Given the description of an element on the screen output the (x, y) to click on. 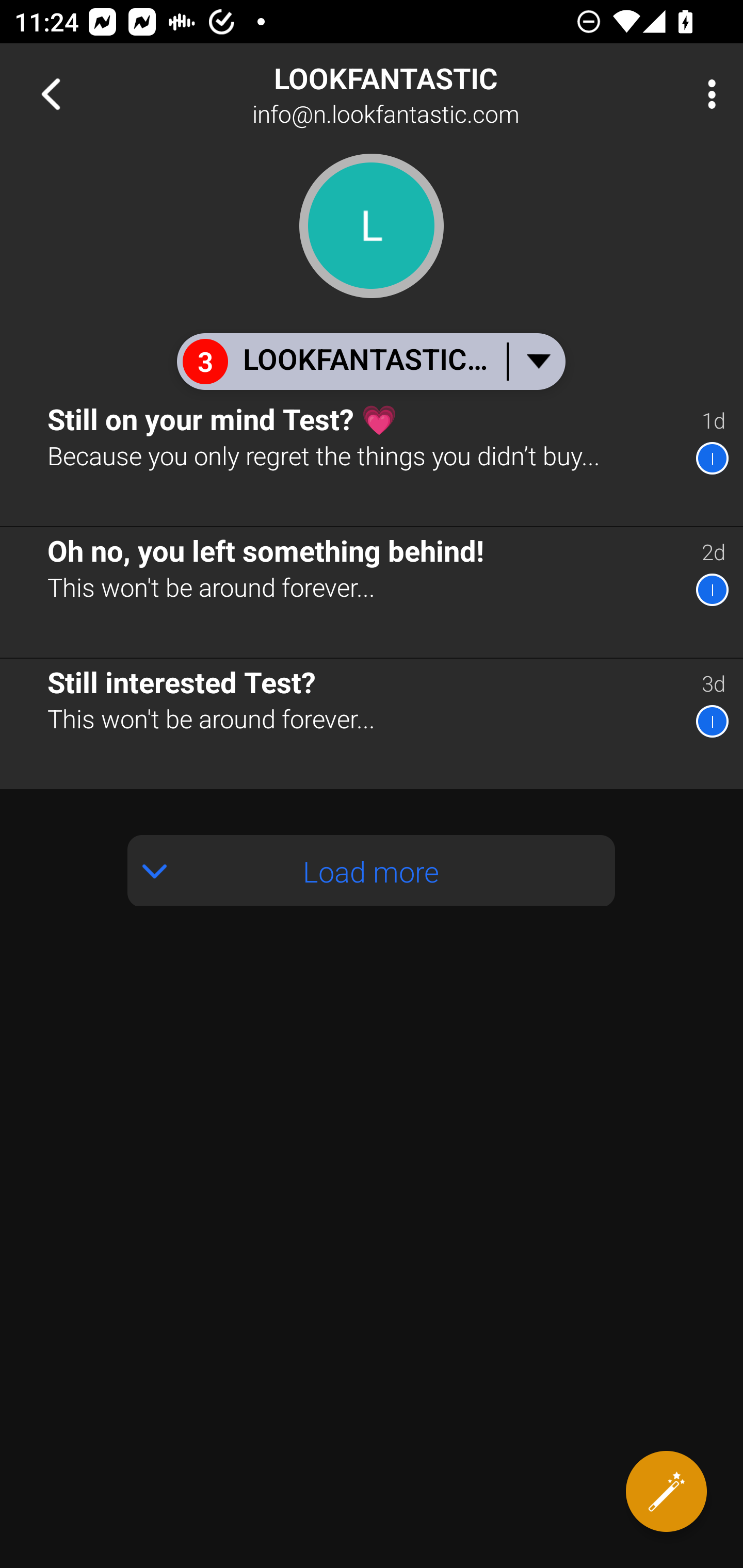
Navigate up (50, 93)
LOOKFANTASTIC info@n.lookfantastic.com (436, 93)
More Options (706, 93)
3 LOOKFANTASTIC & You (370, 361)
Load more (371, 870)
